Given the description of an element on the screen output the (x, y) to click on. 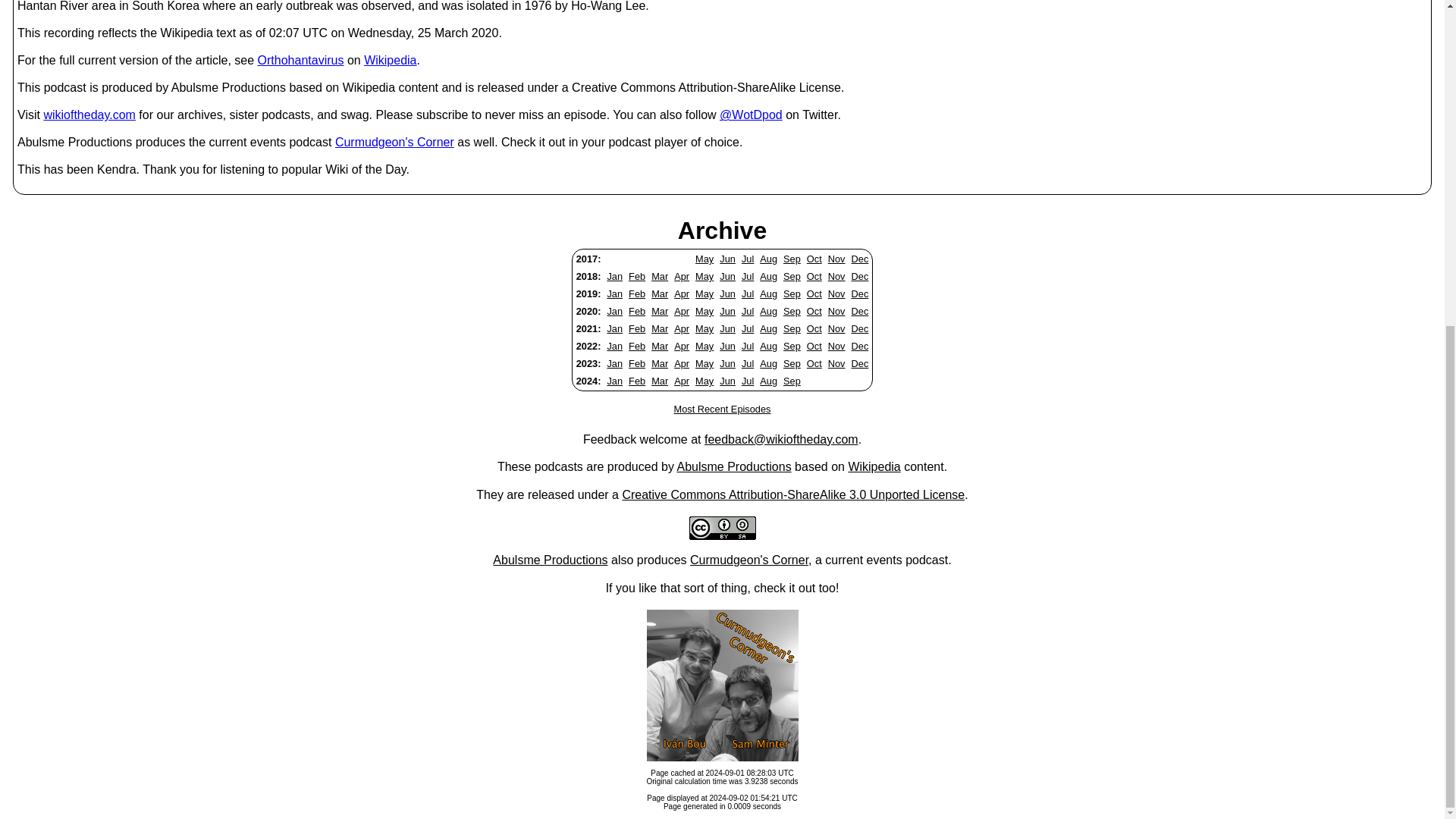
Oct (814, 258)
Aug (768, 258)
Dec (860, 276)
Orthohantavirus (300, 60)
Nov (836, 276)
Nov (836, 258)
wikioftheday.com (89, 114)
Jun (727, 276)
Jan (615, 293)
Feb (636, 276)
